Given the description of an element on the screen output the (x, y) to click on. 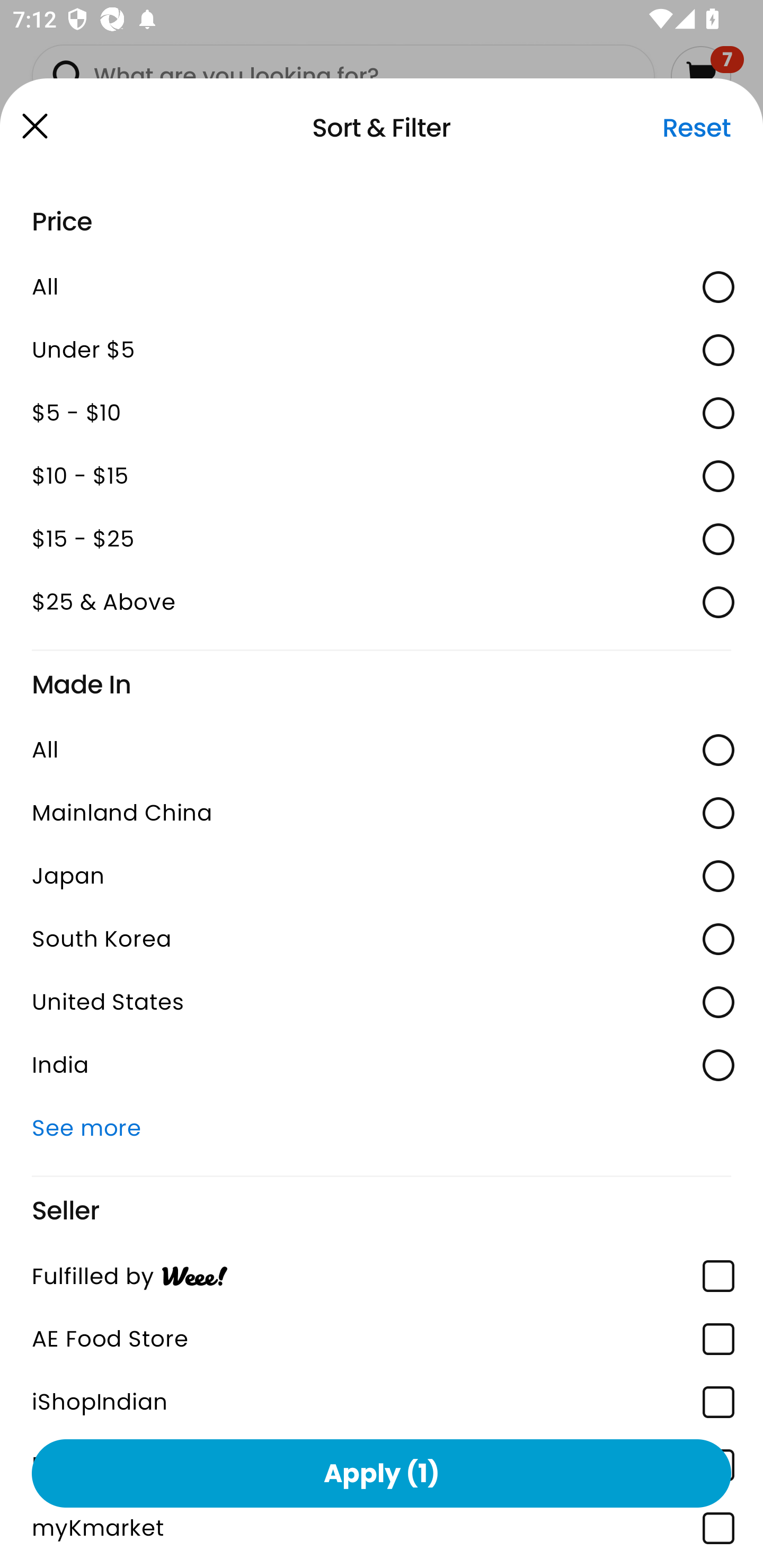
Reset (696, 127)
See more (381, 1128)
Apply (1) (381, 1472)
